Given the description of an element on the screen output the (x, y) to click on. 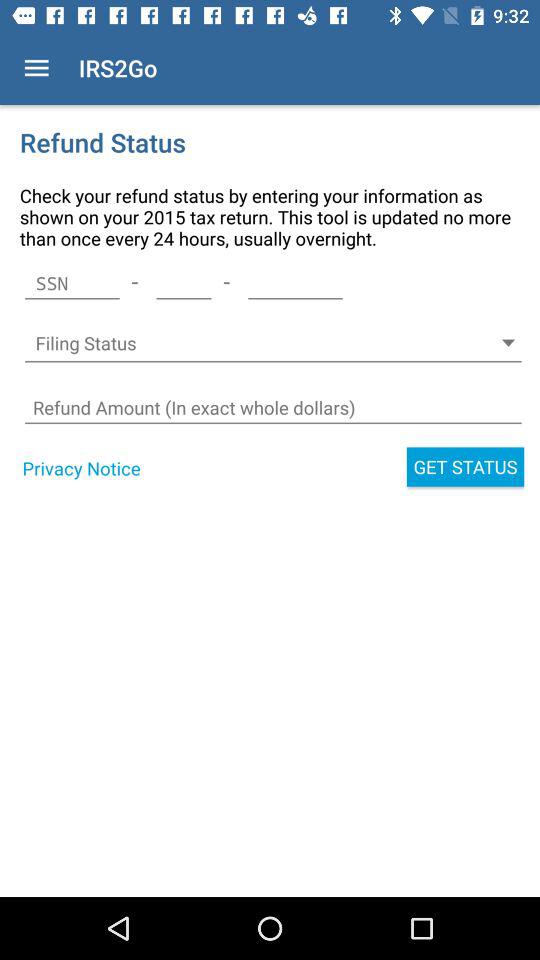
scroll to the privacy notice icon (81, 467)
